Given the description of an element on the screen output the (x, y) to click on. 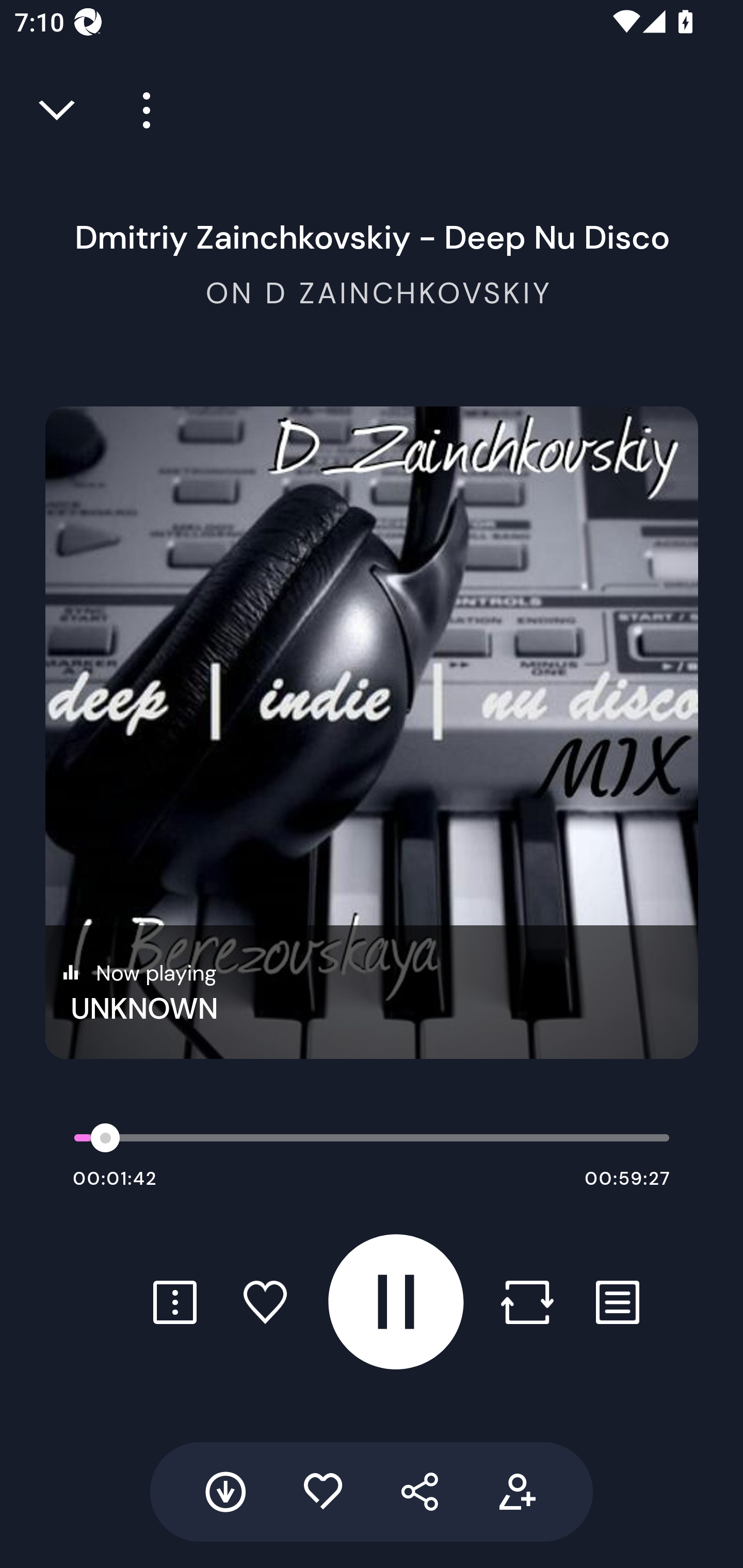
Close full player (58, 110)
Player more options button (139, 110)
Repost button (527, 1301)
